Given the description of an element on the screen output the (x, y) to click on. 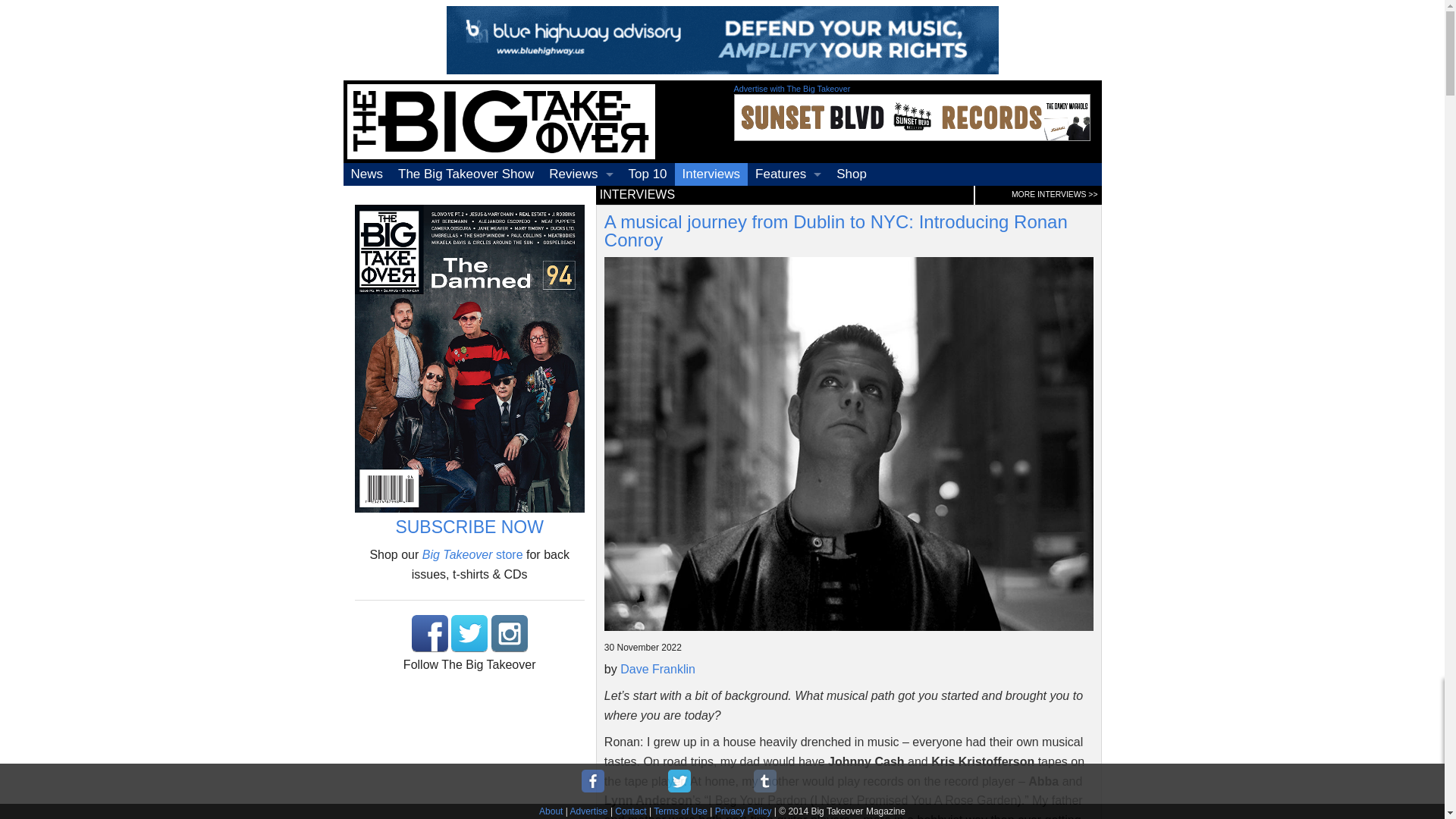
Books (580, 264)
Top 10 (647, 173)
Shop (851, 173)
News (366, 173)
Recordings (580, 196)
Follow us on Twitter (469, 633)
Advertise with The Big Takeover (791, 88)
Essays (788, 219)
Profiles (788, 196)
Big Takeover store (472, 554)
Concerts (580, 219)
Facebook (430, 633)
Interviews (711, 173)
SUBSCRIBE NOW (468, 526)
